Given the description of an element on the screen output the (x, y) to click on. 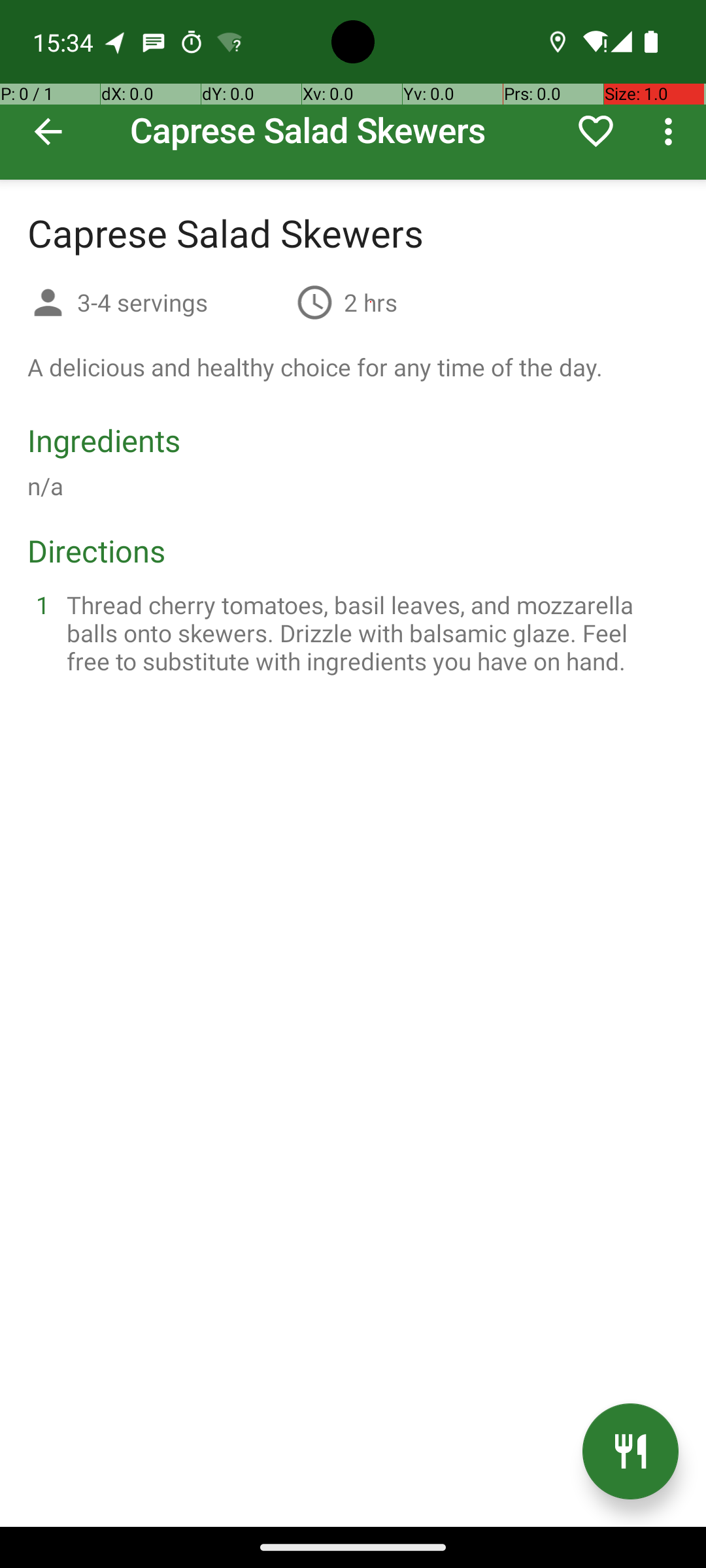
Thread cherry tomatoes, basil leaves, and mozzarella balls onto skewers. Drizzle with balsamic glaze. Feel free to substitute with ingredients you have on hand. Element type: android.widget.TextView (368, 632)
